Given the description of an element on the screen output the (x, y) to click on. 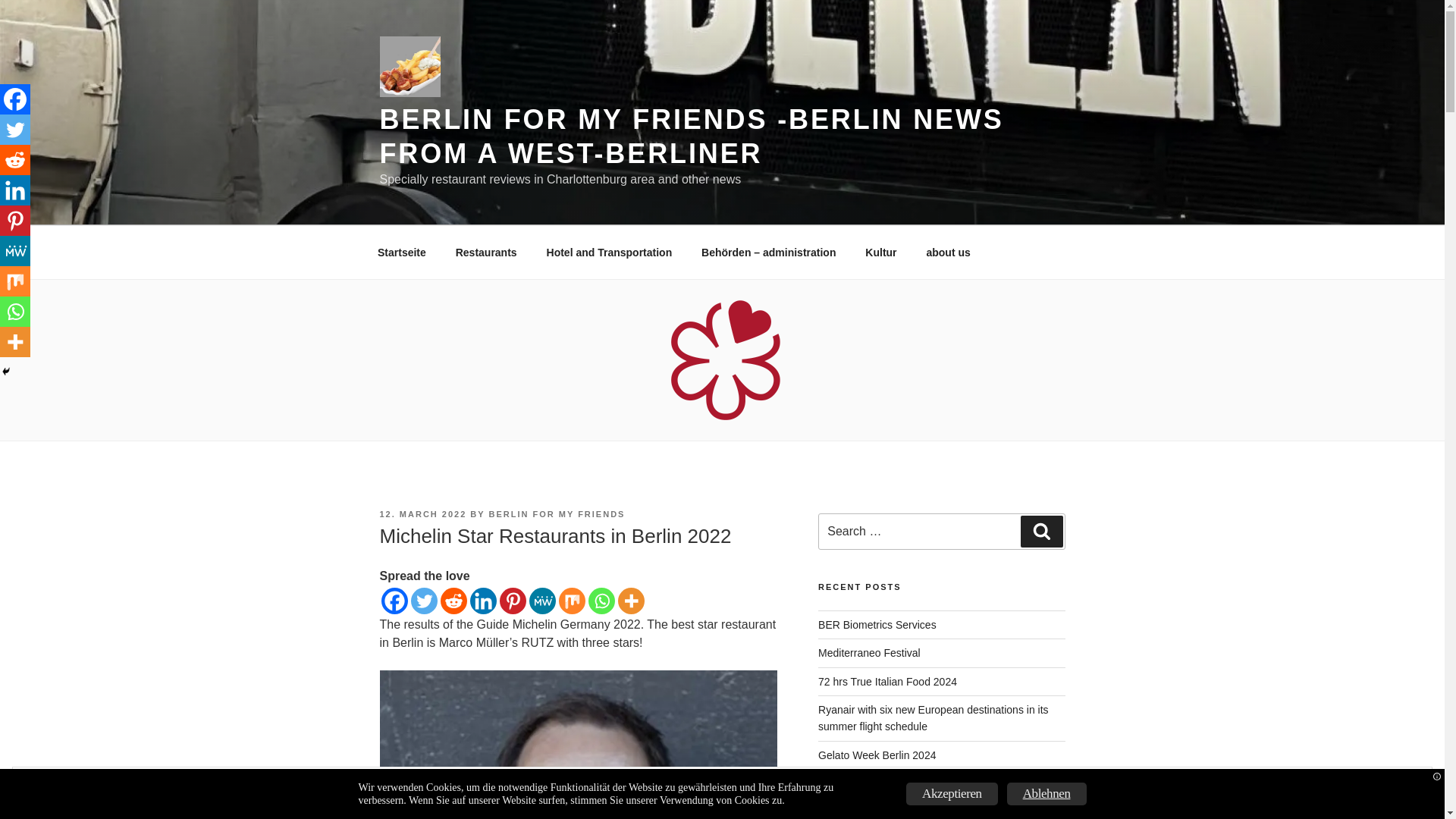
MeWe (542, 601)
Startseite (401, 252)
Whatsapp (601, 601)
Kultur (880, 252)
Linkedin (483, 601)
Reddit (452, 601)
BERLIN FOR MY FRIENDS (557, 513)
Facebook (393, 601)
Facebook (15, 99)
about us (948, 252)
12. MARCH 2022 (421, 513)
Mix (571, 601)
Hotel and Transportation (608, 252)
BERLIN FOR MY FRIENDS -BERLIN NEWS FROM A WEST-BERLINER (690, 136)
Pinterest (512, 601)
